Given the description of an element on the screen output the (x, y) to click on. 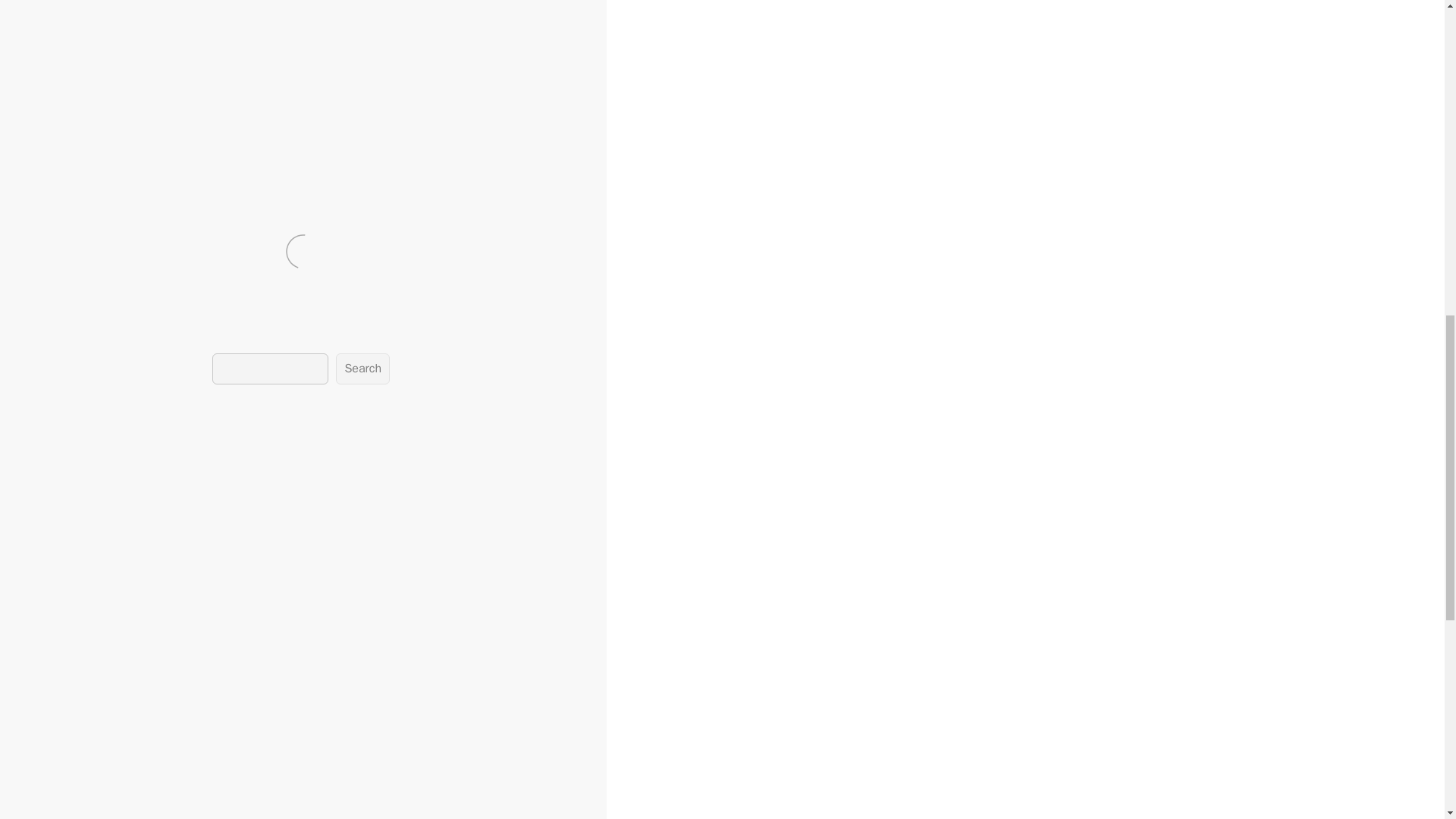
January 2024 (130, 814)
Slot Hoki: Permainan yang Menarik dan Menguntungkan (91, 396)
August 2024 (128, 698)
Previous: What is a Lottery? (81, 279)
Bandar Slot Gacor (170, 51)
June 2024 (122, 731)
Rahasia Sukses Bermain Judi Bola Melalui APK di Indonesia (93, 430)
Info (70, 247)
May 2024 (121, 749)
March 2024 (127, 783)
